Given the description of an element on the screen output the (x, y) to click on. 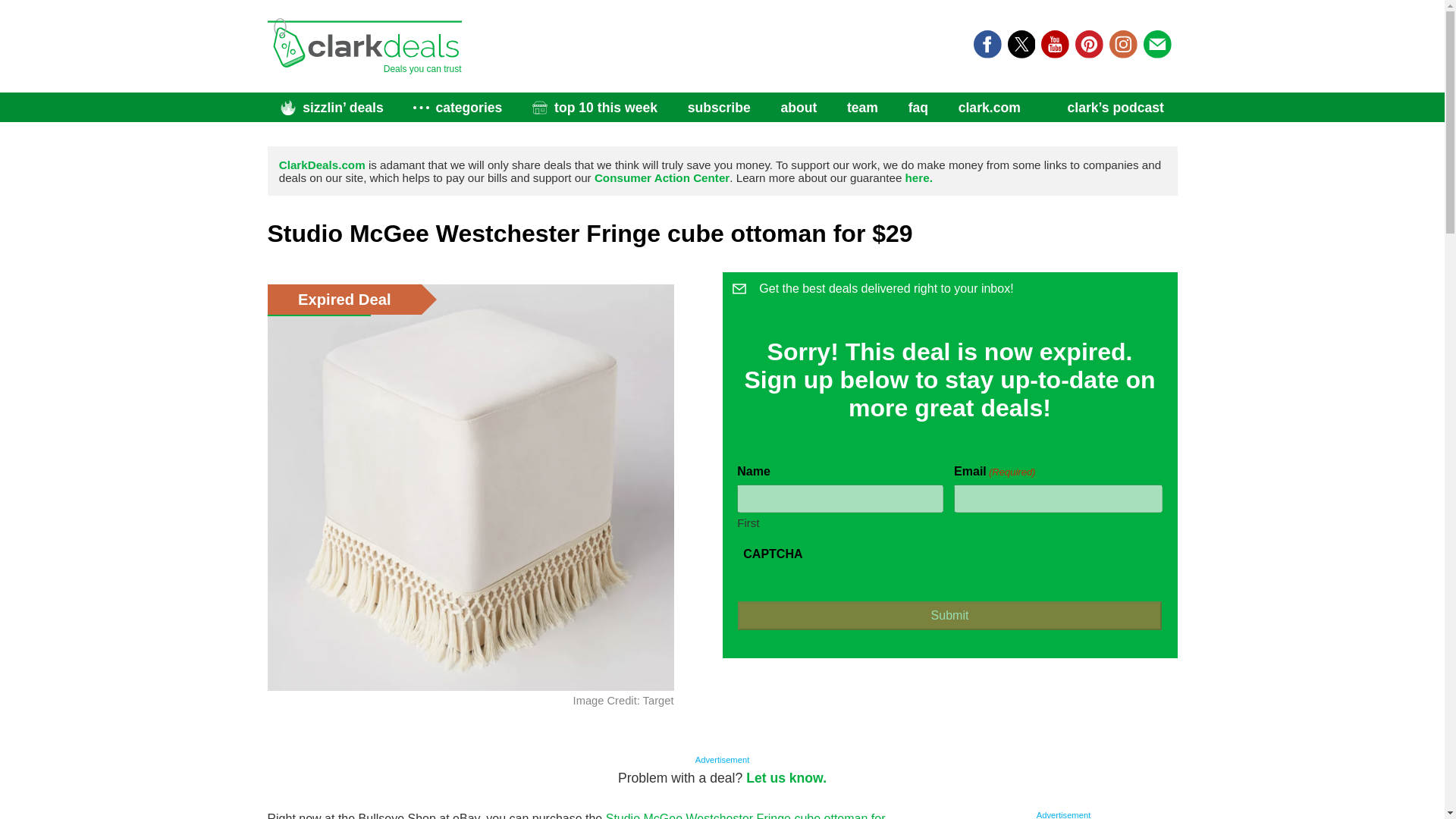
Contact Us (786, 777)
Submit (949, 615)
